Given the description of an element on the screen output the (x, y) to click on. 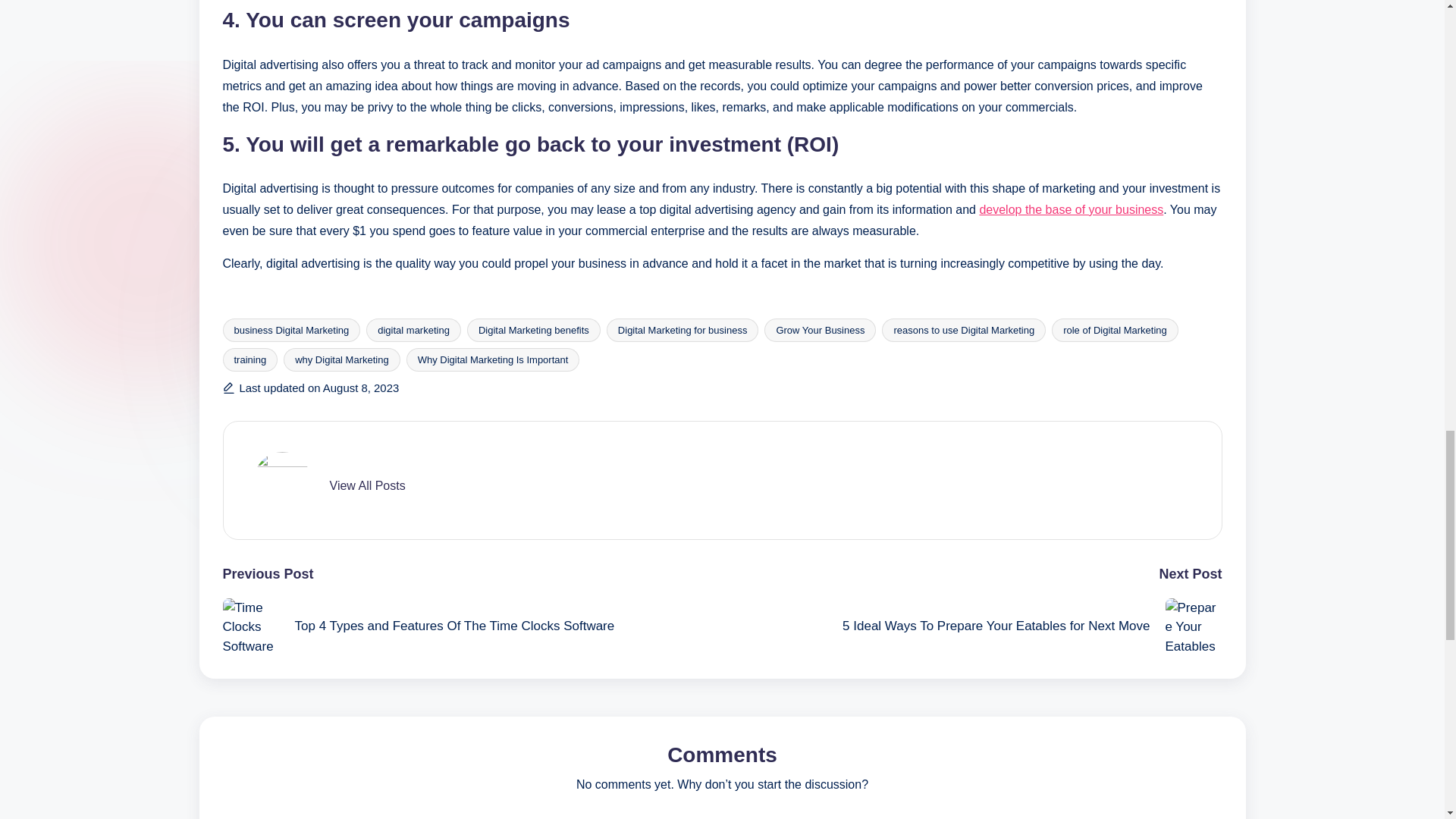
Grow Your Business (820, 330)
digital marketing (413, 330)
role of Digital Marketing (1114, 330)
Digital Marketing for business (682, 330)
Why Digital Marketing Is Important (492, 359)
View All Posts (366, 486)
develop the base of your business (1070, 209)
5 Ideal Ways To Prepare Your Eatables for Next Move (971, 626)
why Digital Marketing (341, 359)
training (250, 359)
